Given the description of an element on the screen output the (x, y) to click on. 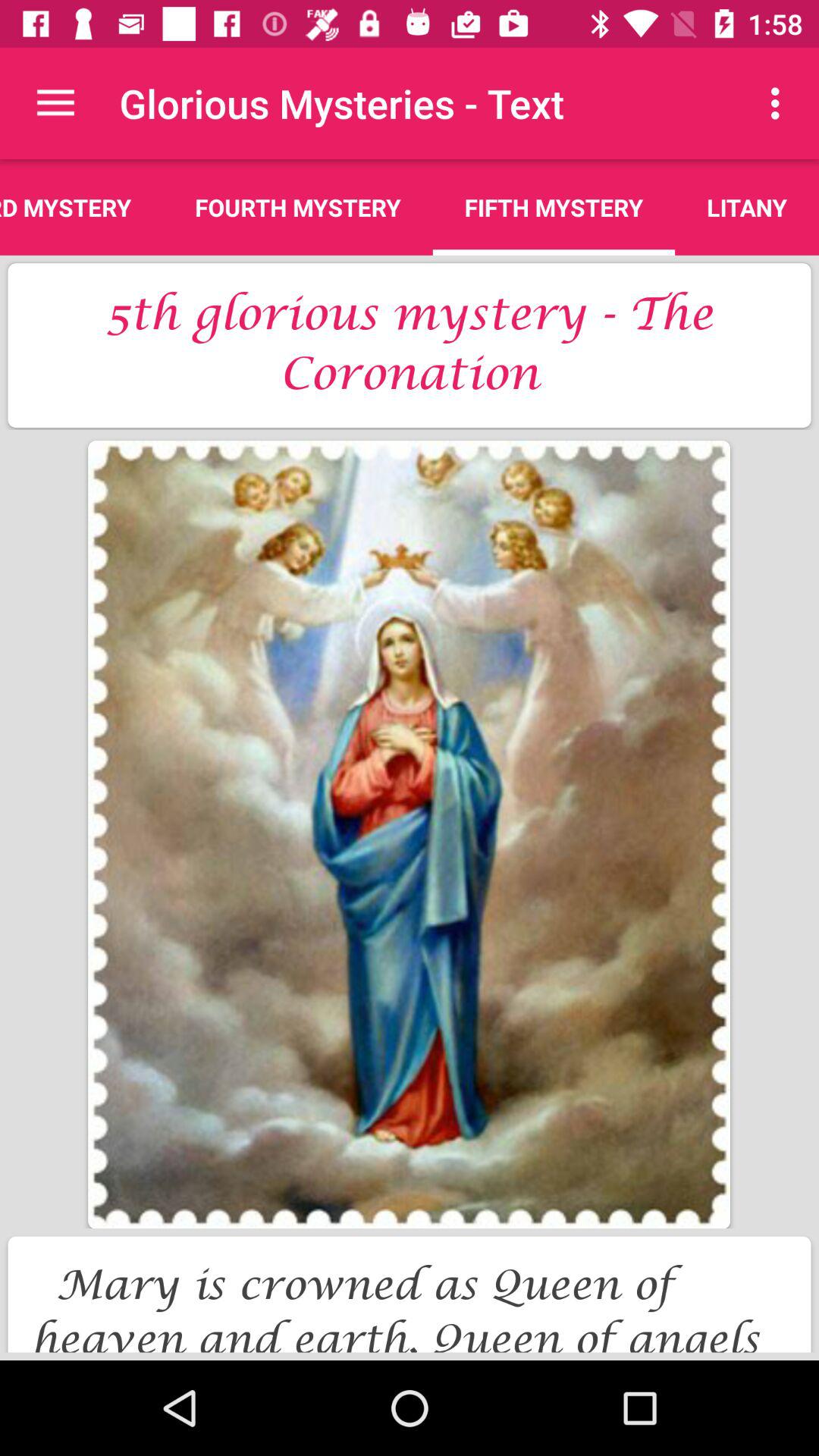
turn on icon next to fifth mystery app (779, 103)
